Given the description of an element on the screen output the (x, y) to click on. 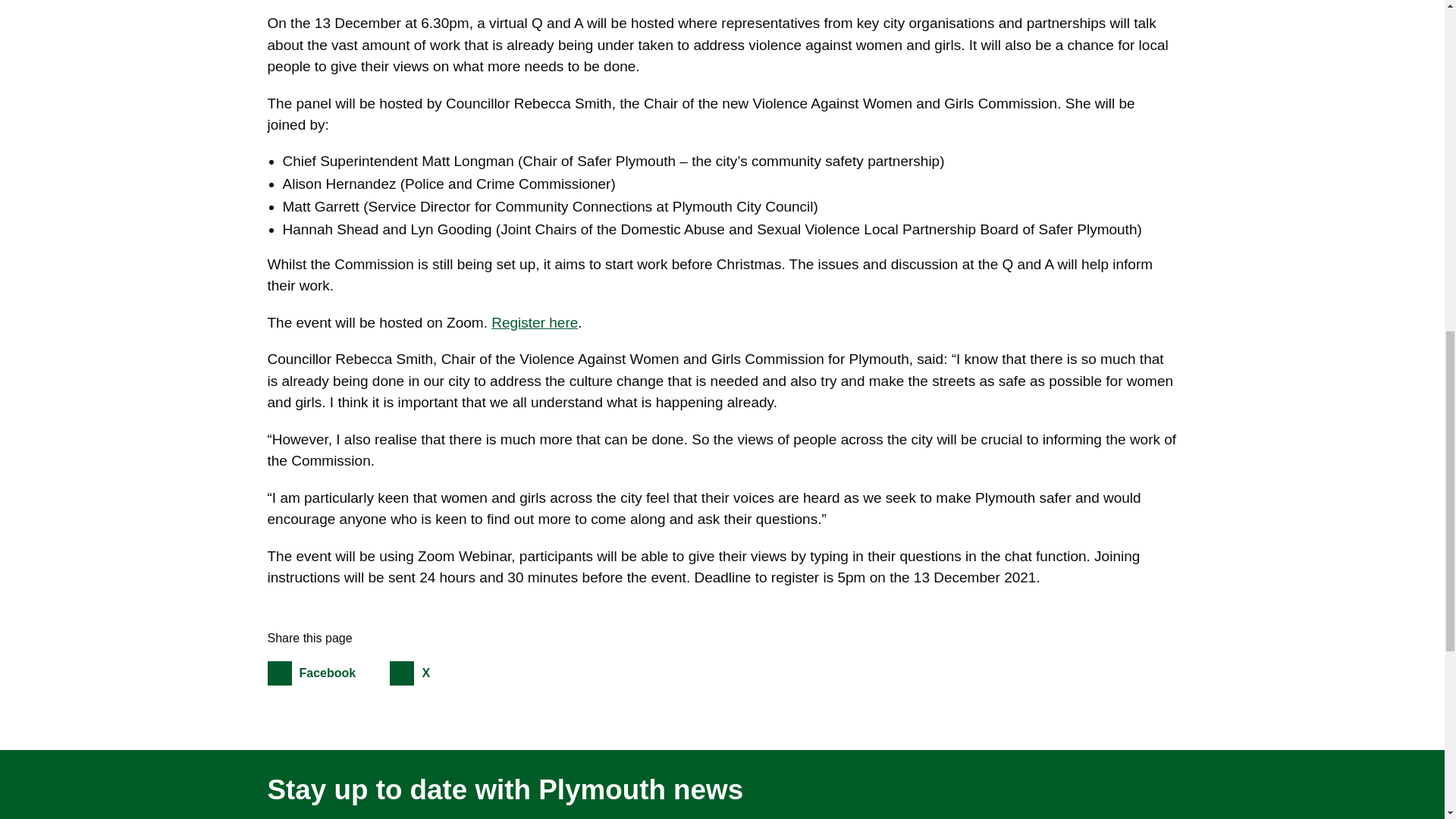
Register here (326, 672)
Share to Facebook (535, 322)
